Given the description of an element on the screen output the (x, y) to click on. 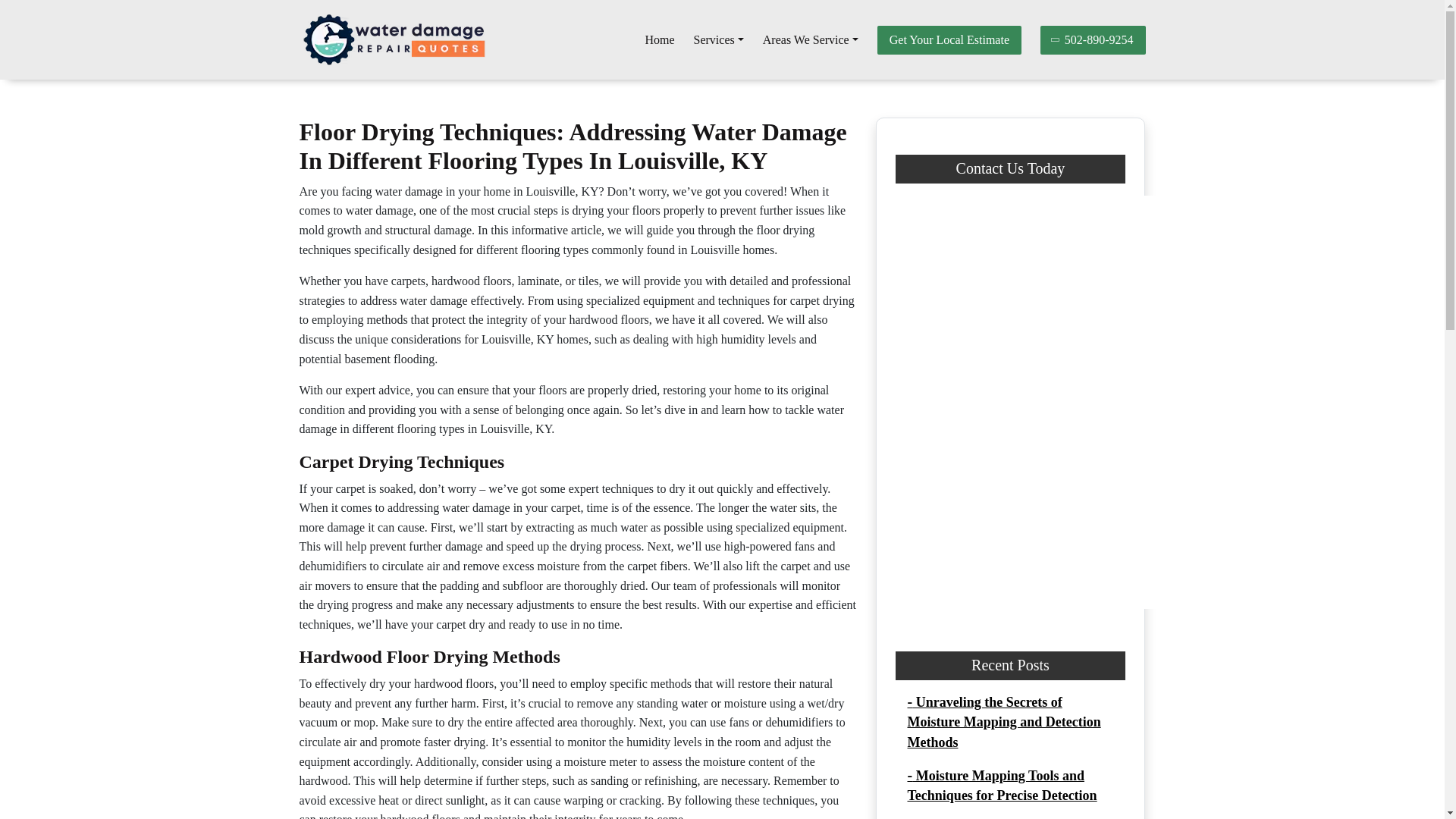
Services (719, 40)
Services (719, 40)
Get Your Local Estimate (949, 39)
Areas We Service (810, 40)
Home (659, 40)
502-890-9254 (1093, 39)
Home (659, 40)
Areas We Service (810, 40)
